Given the description of an element on the screen output the (x, y) to click on. 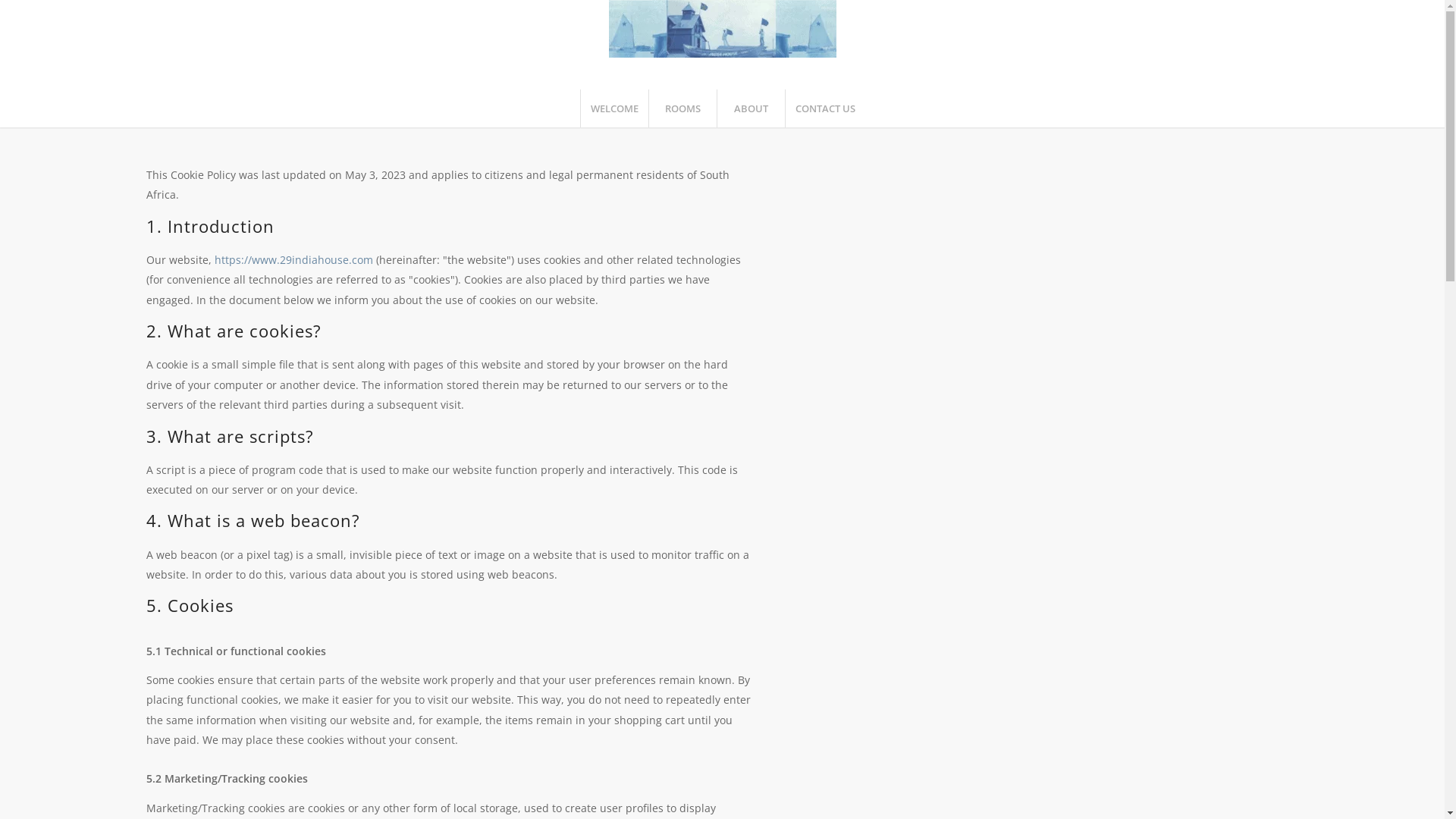
CONTACT US Element type: text (824, 108)
WELCOME Element type: text (613, 108)
ABOUT Element type: text (749, 108)
https://www.29indiahouse.com Element type: text (293, 259)
ROOMS Element type: text (681, 108)
